Given the description of an element on the screen output the (x, y) to click on. 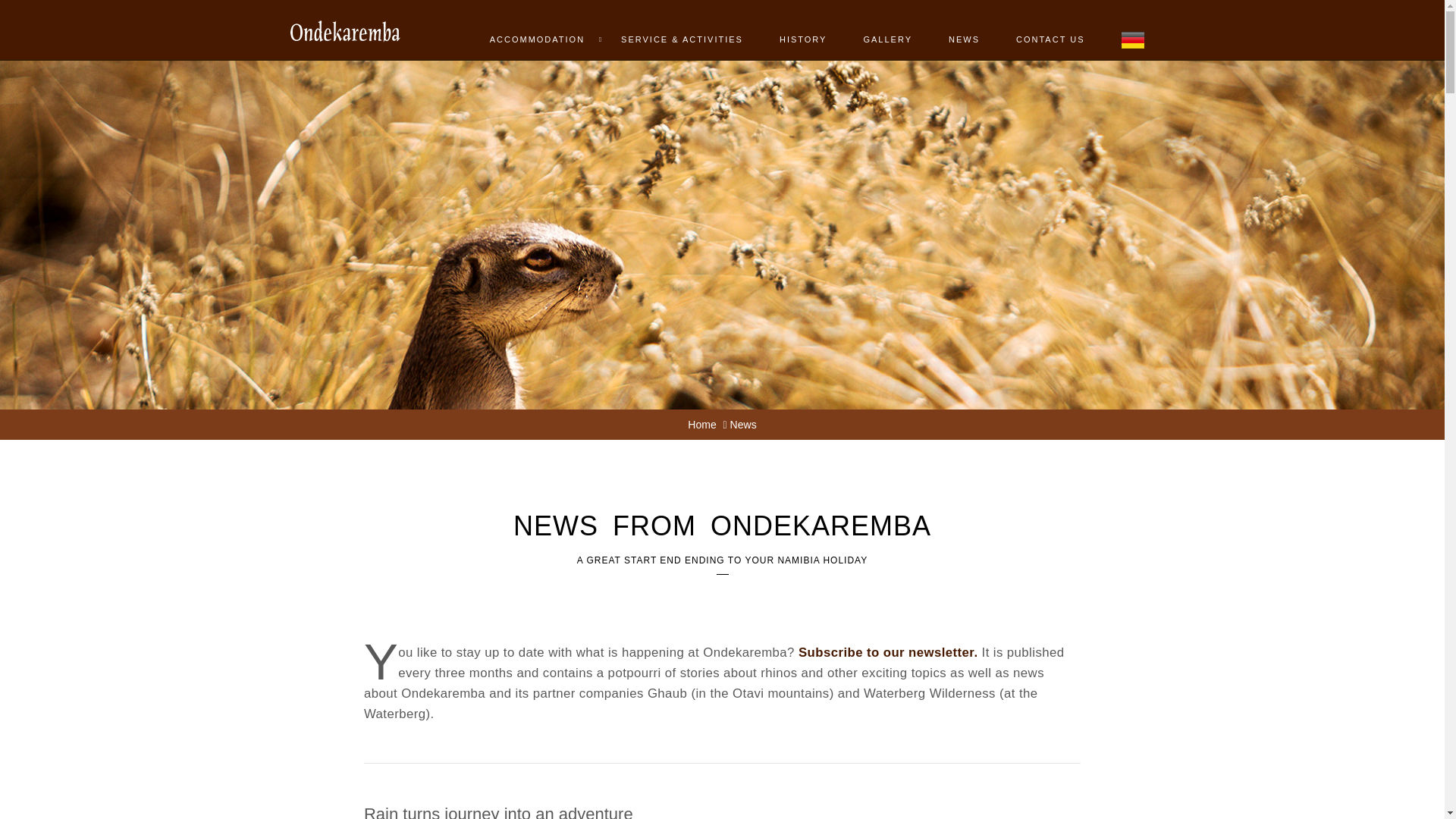
Home (701, 424)
ACCOMMODATION (536, 30)
HISTORY (803, 30)
CONTACT US (1050, 30)
Subscribe to our newsletter. (887, 652)
NEWS (963, 30)
GALLERY (887, 30)
